Given the description of an element on the screen output the (x, y) to click on. 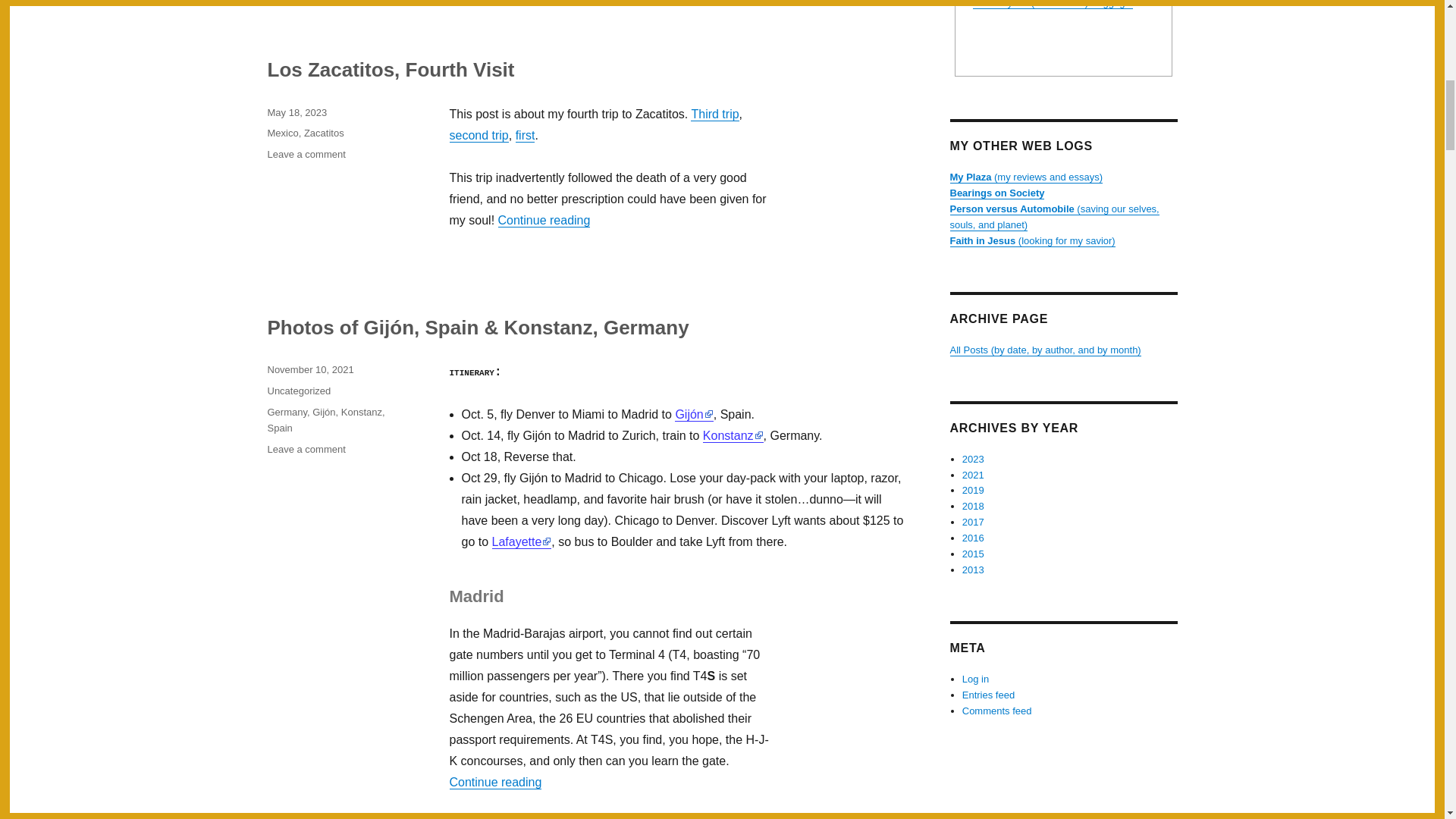
Los Zacatitos, Fourth Visit (389, 69)
November 10, 2021 (309, 369)
Third trip (714, 113)
Konstanz (305, 153)
Zacatitos (360, 411)
first (323, 132)
second trip (525, 134)
Mexico (478, 134)
Konstanz (282, 132)
